Given the description of an element on the screen output the (x, y) to click on. 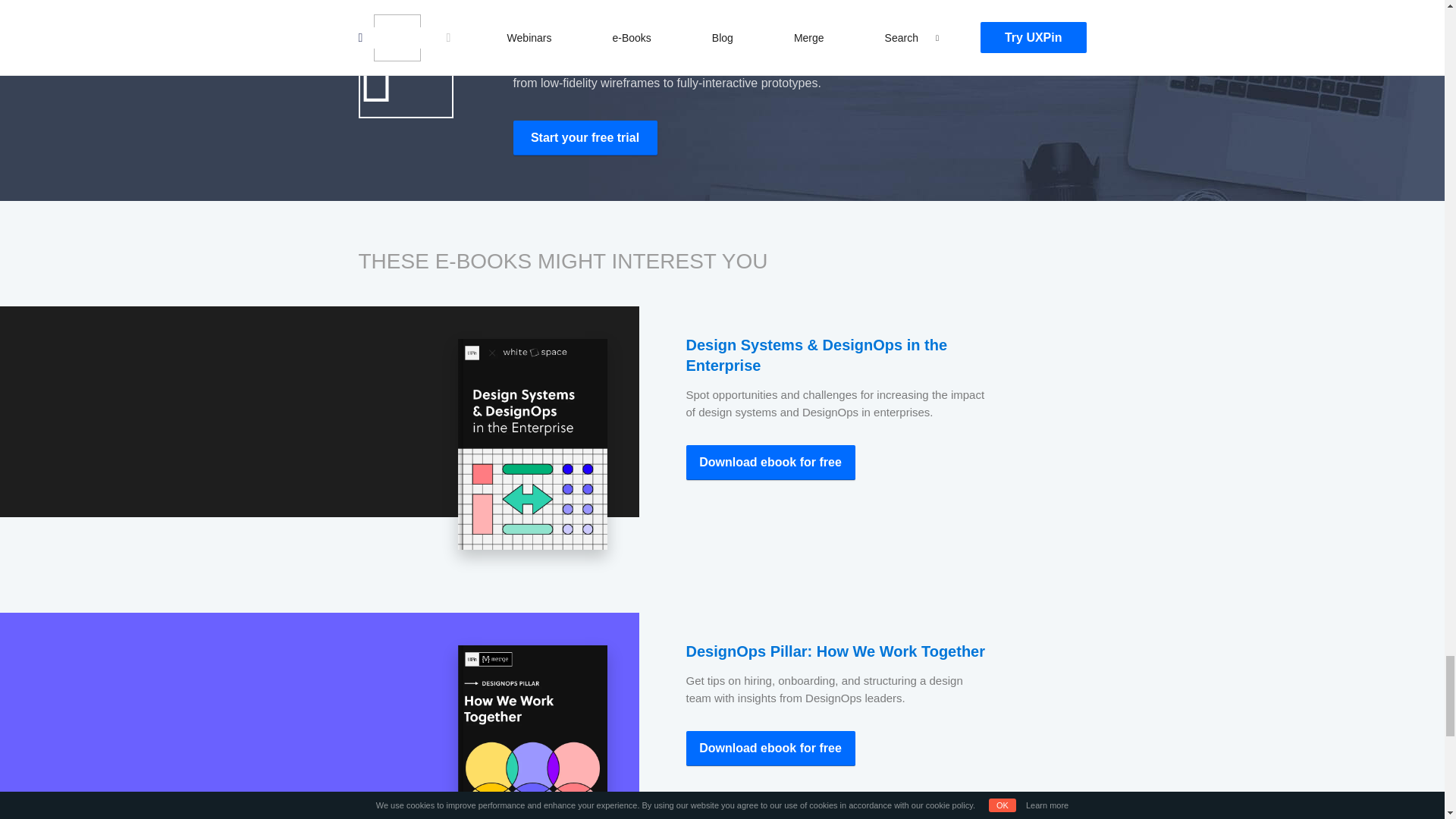
UXPin (584, 137)
